Given the description of an element on the screen output the (x, y) to click on. 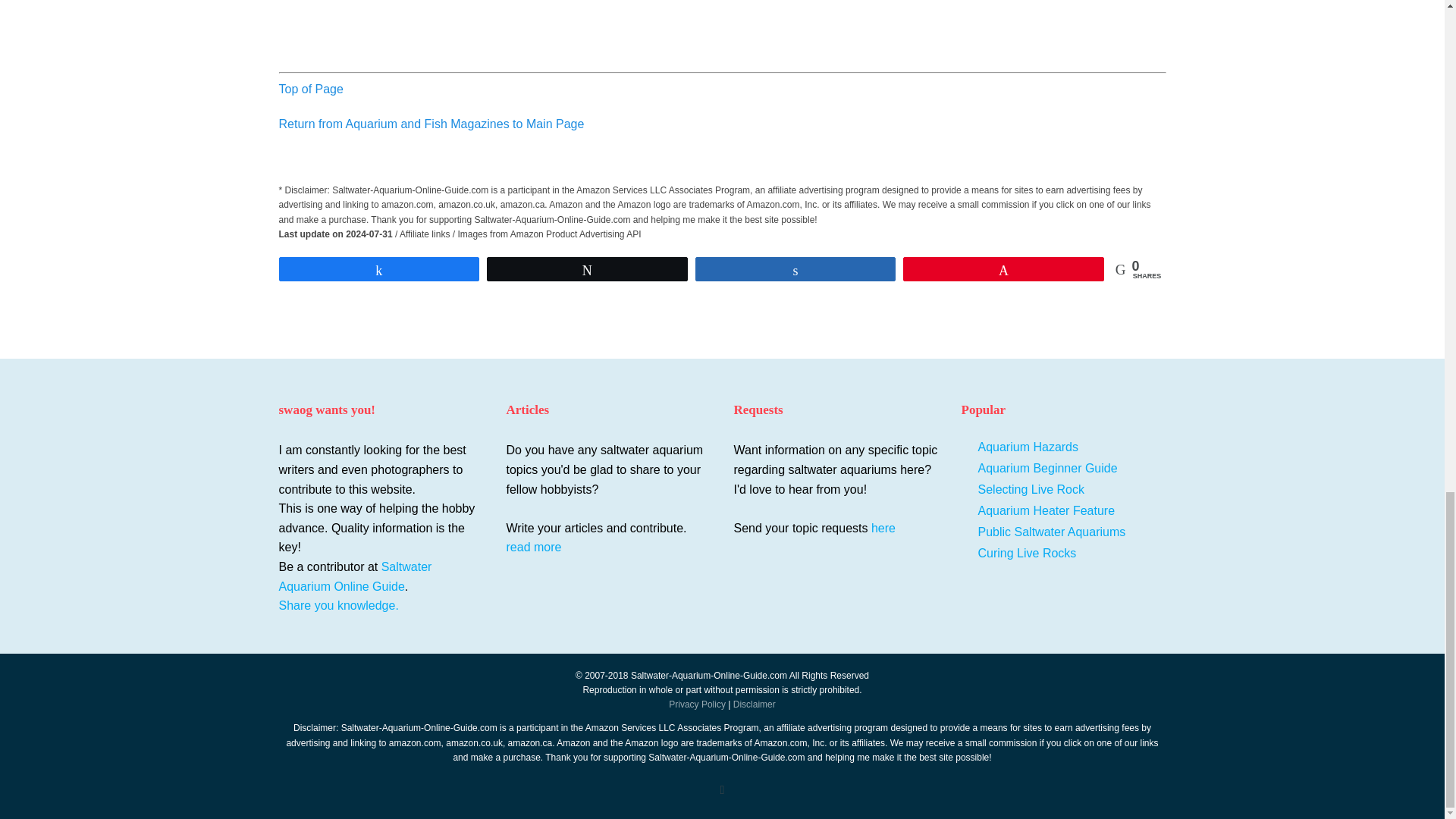
Saltwater Aquarium Online Guide (355, 576)
Contact SWAOG (882, 527)
Top of Page (311, 88)
read more (534, 546)
Return from Aquarium and Fish Magazines to Main Page (432, 123)
Share you knowledge. (381, 605)
Saltwater Aquarium Online Guide (355, 576)
